Given the description of an element on the screen output the (x, y) to click on. 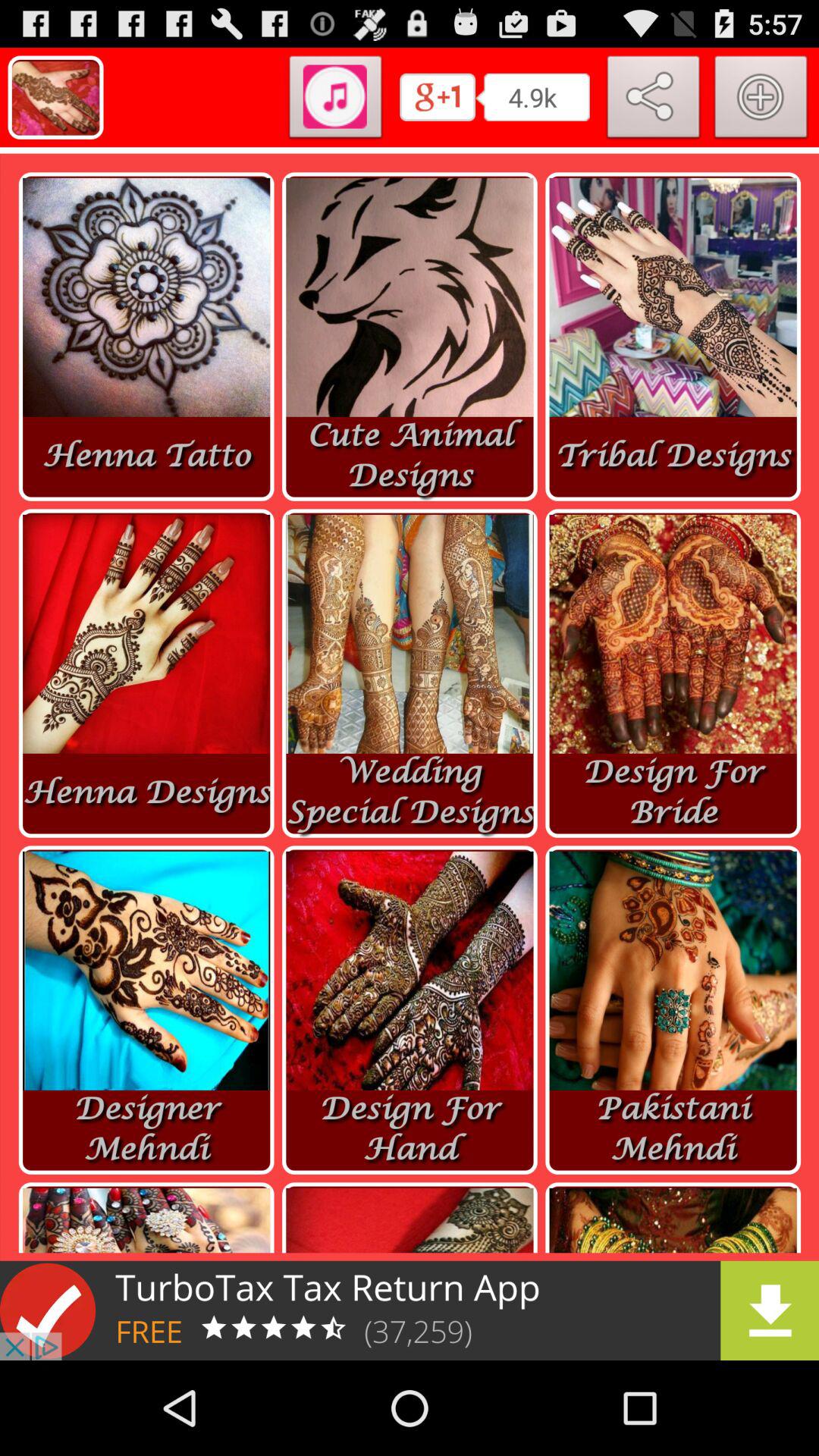
music button (335, 100)
